Given the description of an element on the screen output the (x, y) to click on. 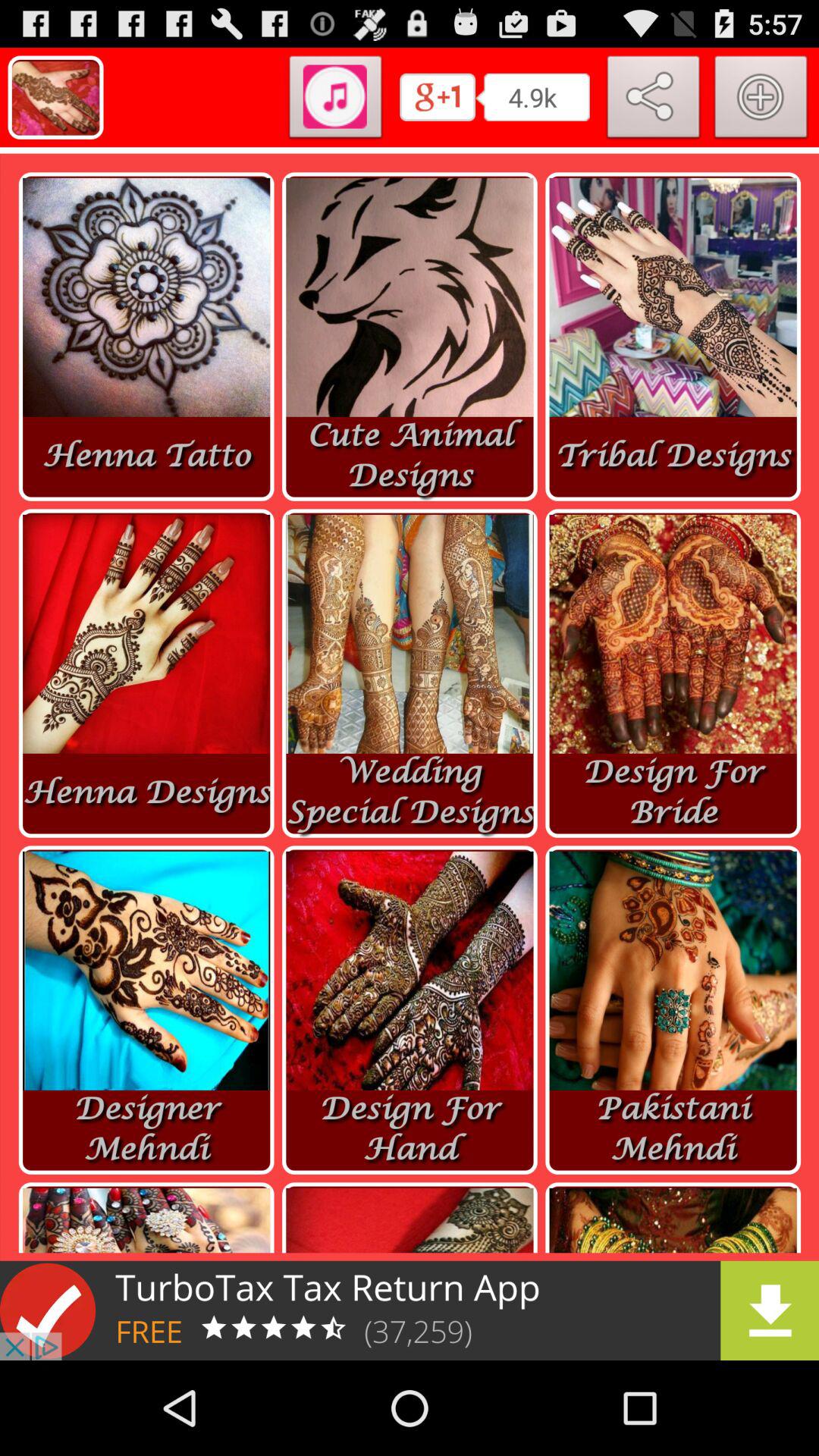
music button (335, 100)
